Given the description of an element on the screen output the (x, y) to click on. 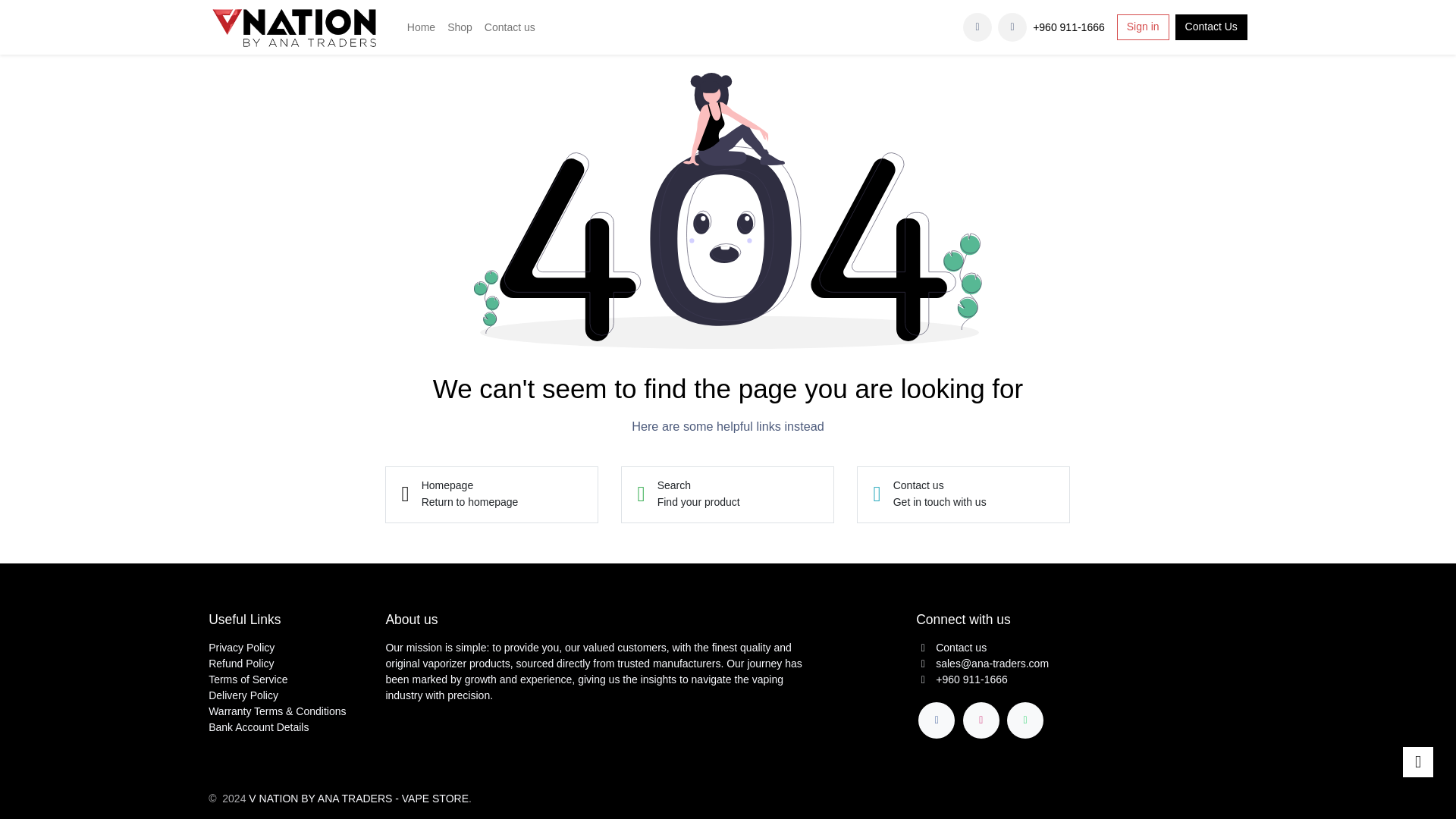
Home (421, 27)
Search (727, 495)
V Nation (963, 495)
page not found (1011, 27)
Sign in (295, 26)
Contact us (1142, 27)
